Given the description of an element on the screen output the (x, y) to click on. 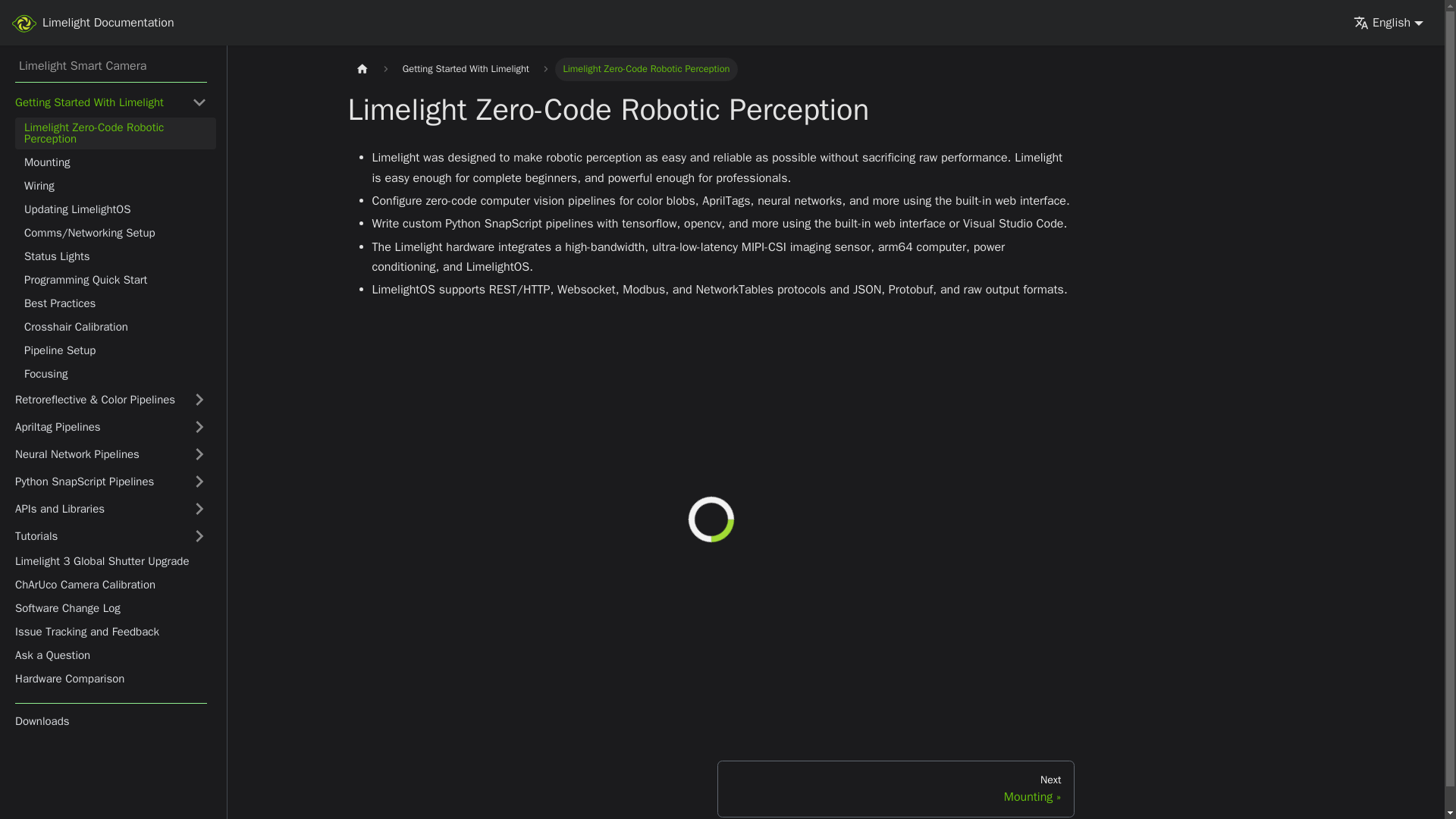
Software Change Log (110, 608)
Wiring (114, 186)
Issue Tracking and Feedback (110, 631)
Hardware Comparison (110, 679)
Focusing (114, 373)
Status Lights (114, 256)
Limelight Zero-Code Robotic Perception (114, 133)
Tutorials (110, 535)
Downloads (110, 721)
Limelight Documentation (92, 22)
Limelight 3 Global Shutter Upgrade (110, 561)
Best Practices (114, 303)
APIs and Libraries (110, 508)
Pipeline Setup (114, 350)
Getting Started With Limelight (110, 102)
